Given the description of an element on the screen output the (x, y) to click on. 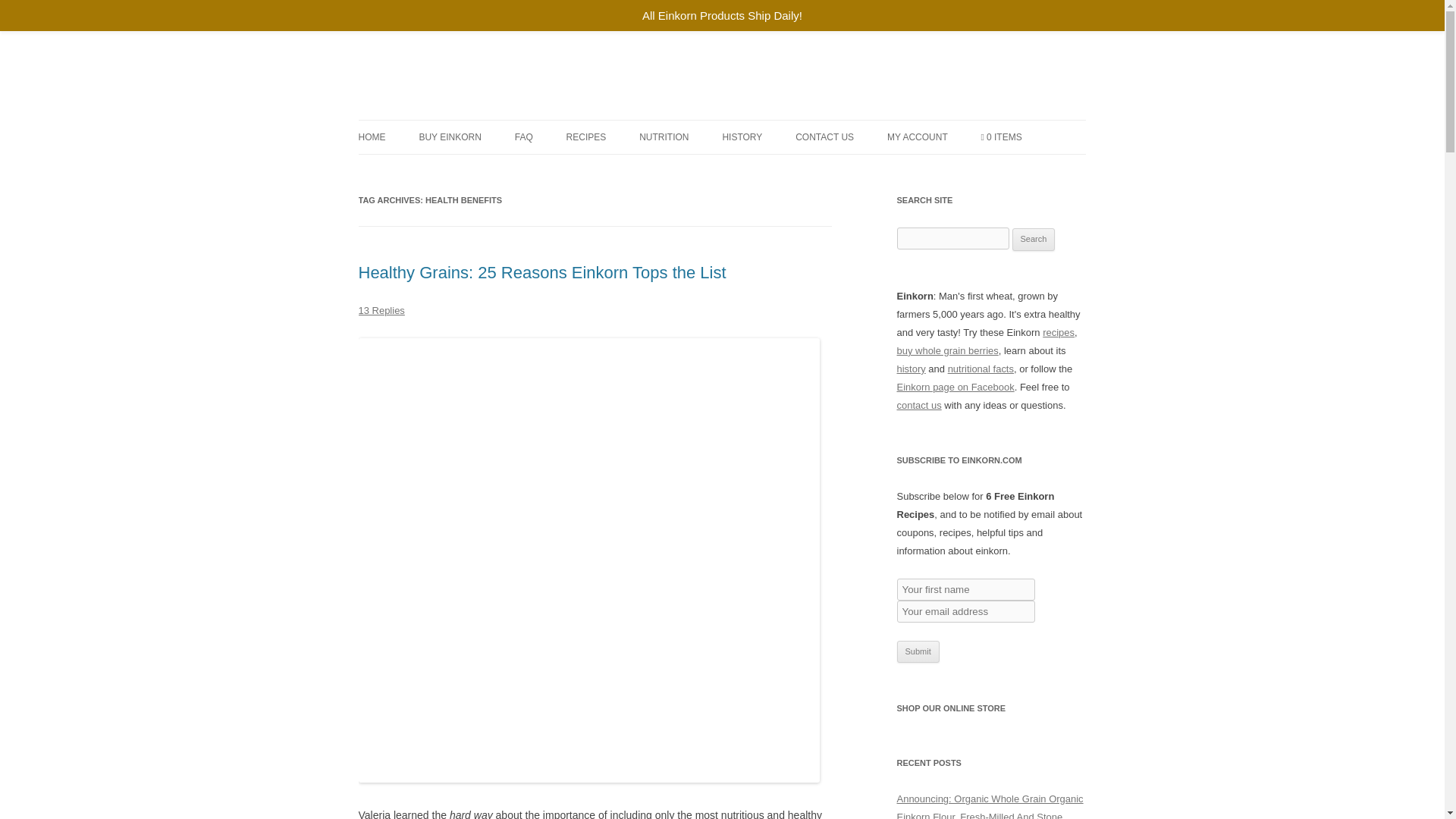
Start shopping (1001, 136)
13 Replies (381, 310)
HISTORY (741, 136)
Submit (917, 651)
Search (1033, 239)
NUTRITION (663, 136)
0 ITEMS (1001, 136)
RECIPES (586, 136)
